Given the description of an element on the screen output the (x, y) to click on. 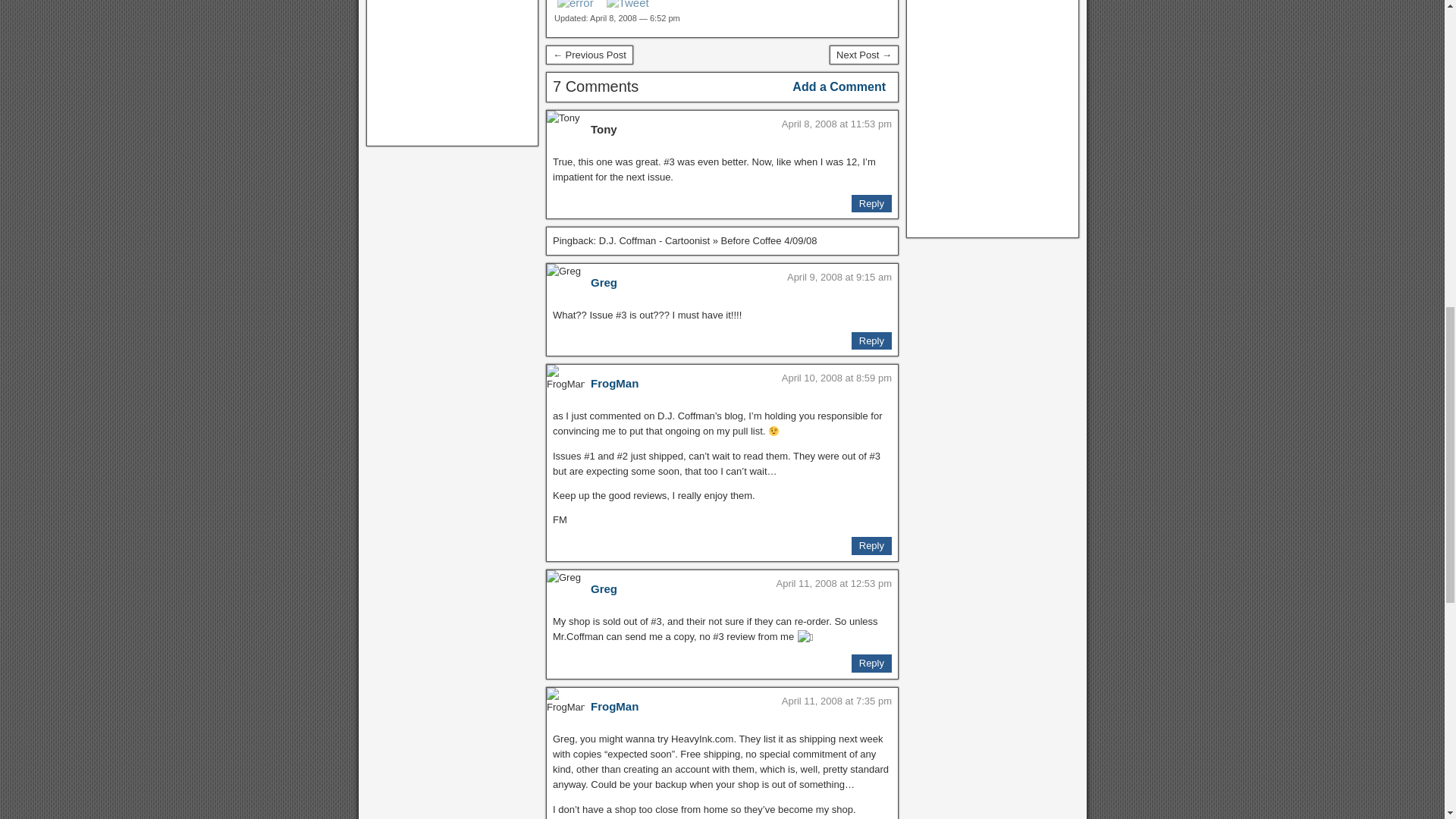
Reply (871, 203)
April 11, 2008 at 12:53 pm (834, 583)
Greg (604, 282)
April 11, 2008 at 7:35 pm (836, 700)
April 8, 2008 at 11:53 pm (836, 123)
Advertisement (452, 69)
FrogMan (615, 382)
Add a Comment (838, 86)
April 9, 2008 at 9:15 am (839, 276)
Reply (871, 341)
